Given the description of an element on the screen output the (x, y) to click on. 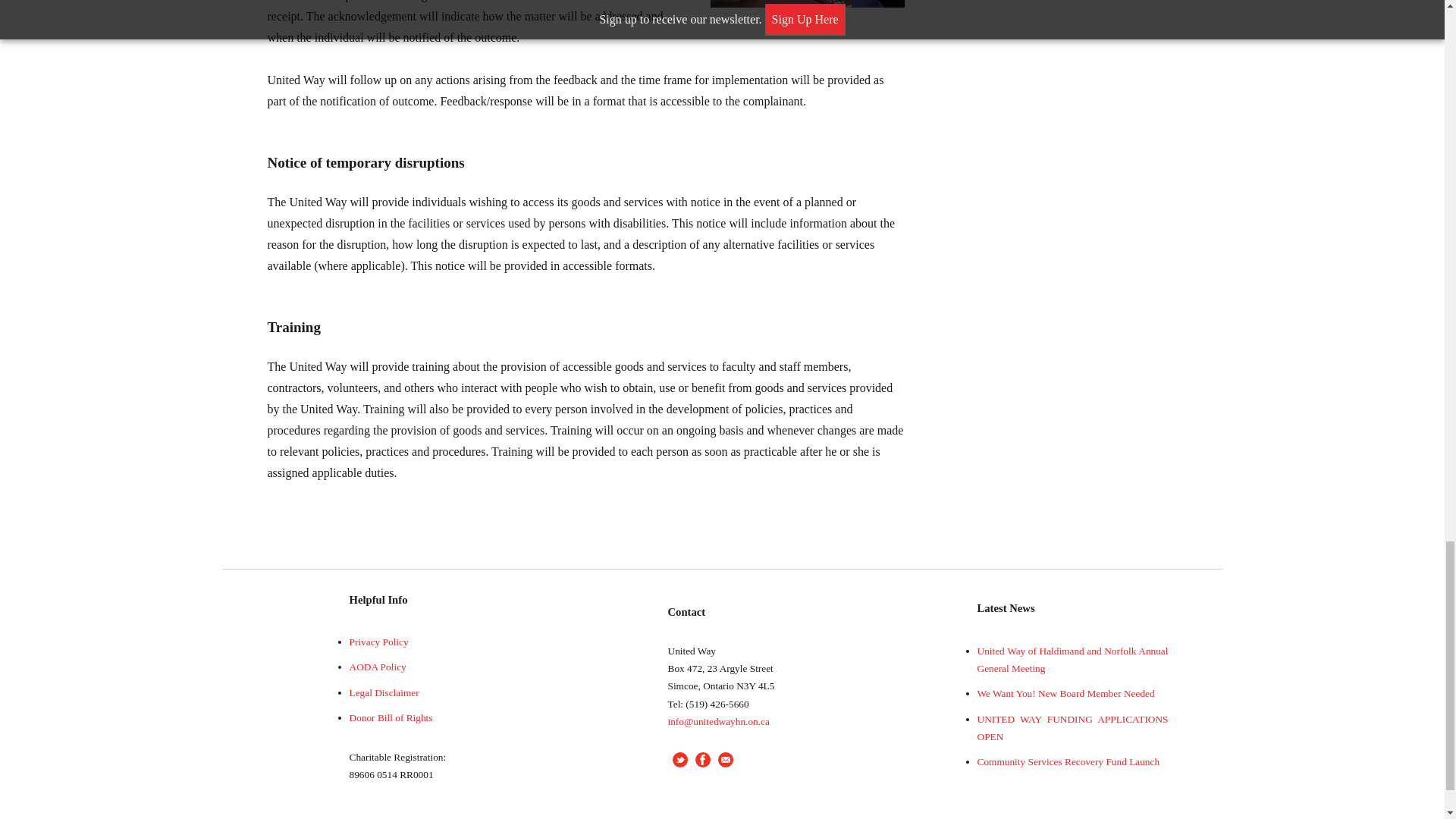
Legal Disclaimer (384, 692)
Privacy Policy (378, 641)
Donor Bill of Rights (390, 717)
United Way of Haldimand and Norfolk Annual General Meeting (1071, 659)
AODA Policy (377, 666)
Permanent Link to Community Services Recovery Fund Launch (1067, 761)
Community Services Recovery Fund Launch (1067, 761)
We Want You! New Board Member Needed (1065, 693)
UNITED WAY FUNDING APPLICATIONS OPEN (1071, 727)
